Given the description of an element on the screen output the (x, y) to click on. 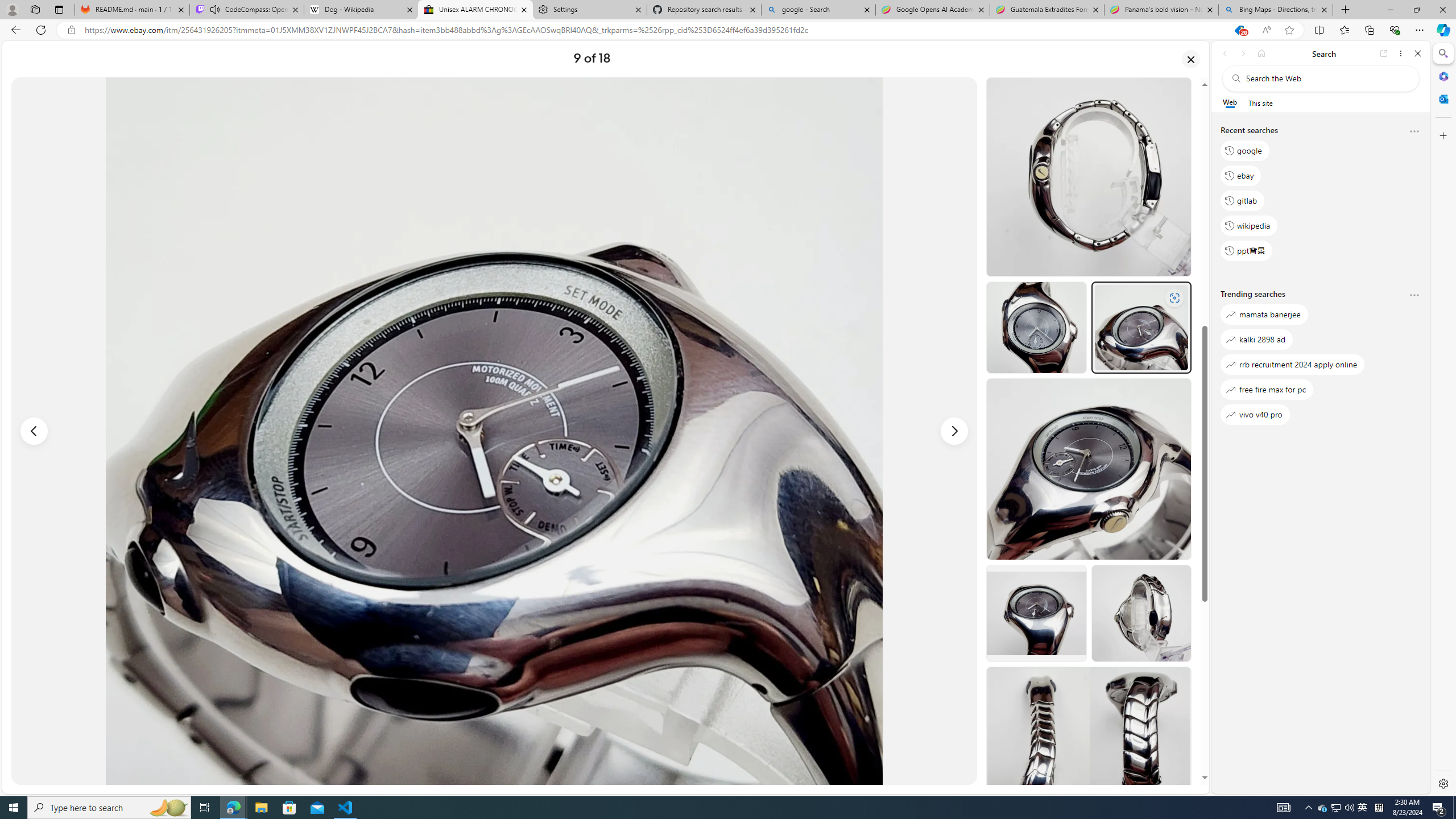
google (1244, 150)
kalki 2898 ad (1256, 339)
rrb recruitment 2024 apply online (1292, 364)
